Given the description of an element on the screen output the (x, y) to click on. 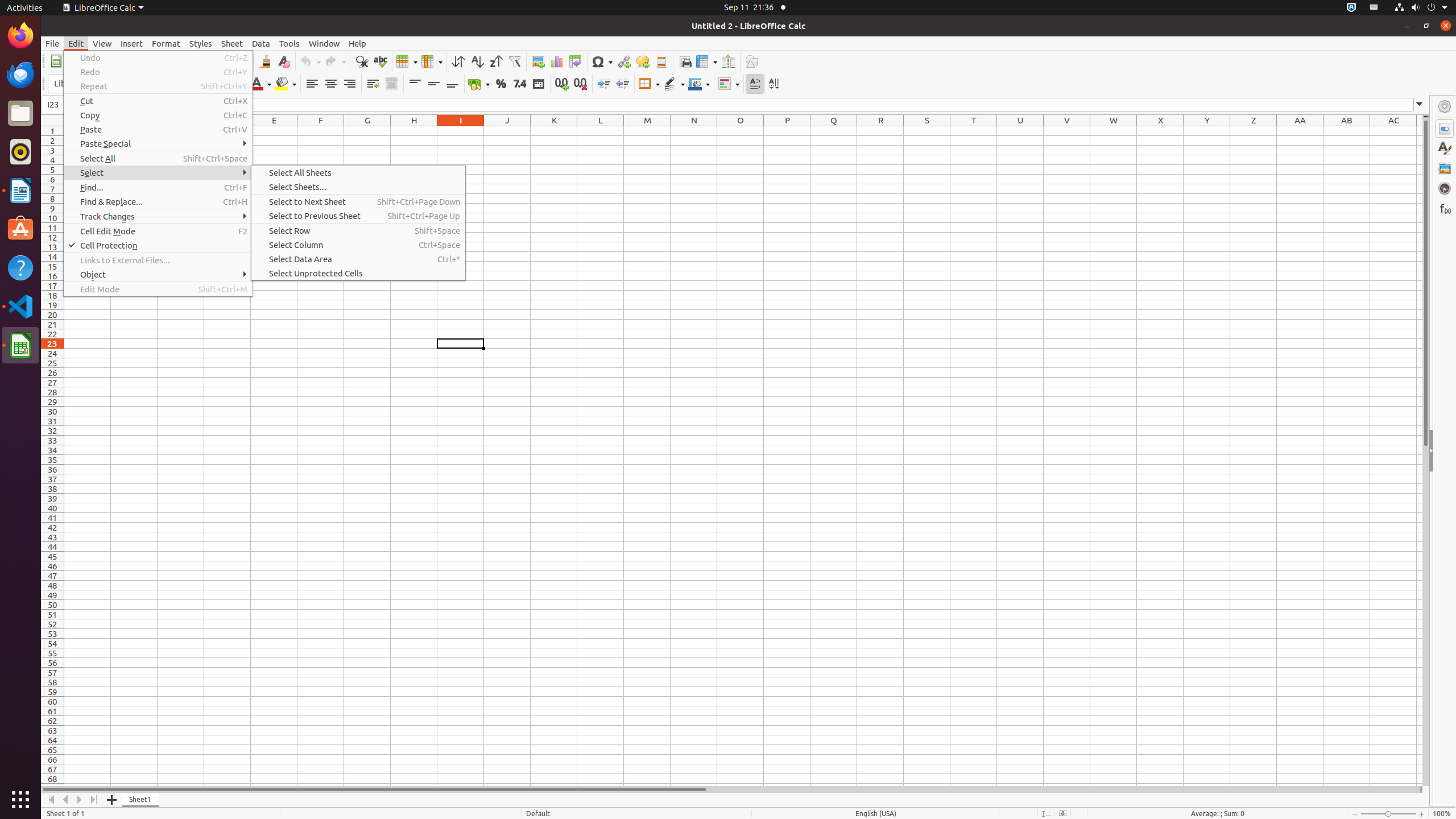
Text direction from left to right Element type: toggle-button (754, 83)
Conditional Element type: push-button (728, 83)
U1 Element type: table-cell (1020, 130)
Border Color Element type: push-button (698, 83)
Select All Sheets Element type: menu-item (358, 172)
